Given the description of an element on the screen output the (x, y) to click on. 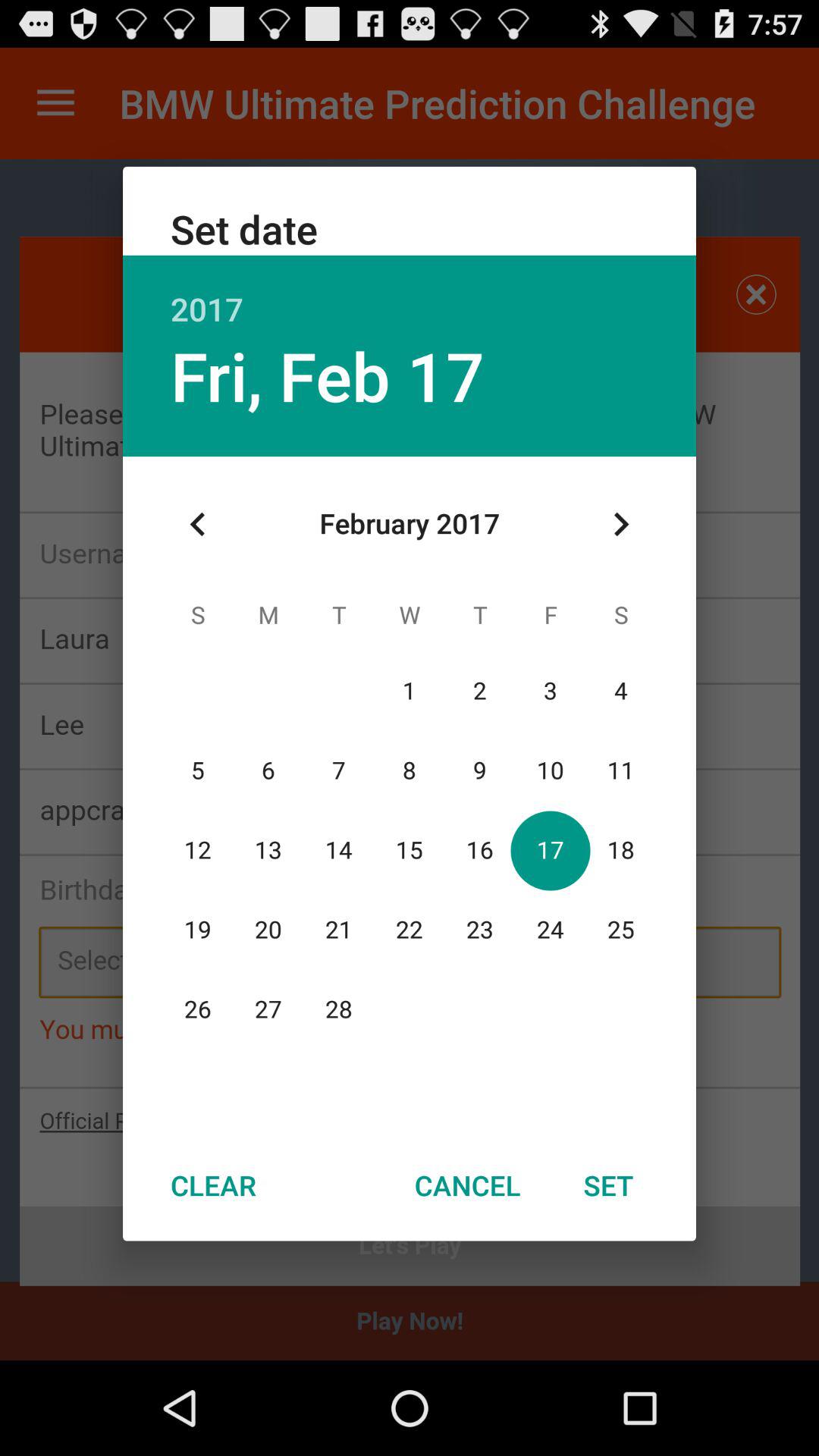
open icon at the bottom (467, 1185)
